Given the description of an element on the screen output the (x, y) to click on. 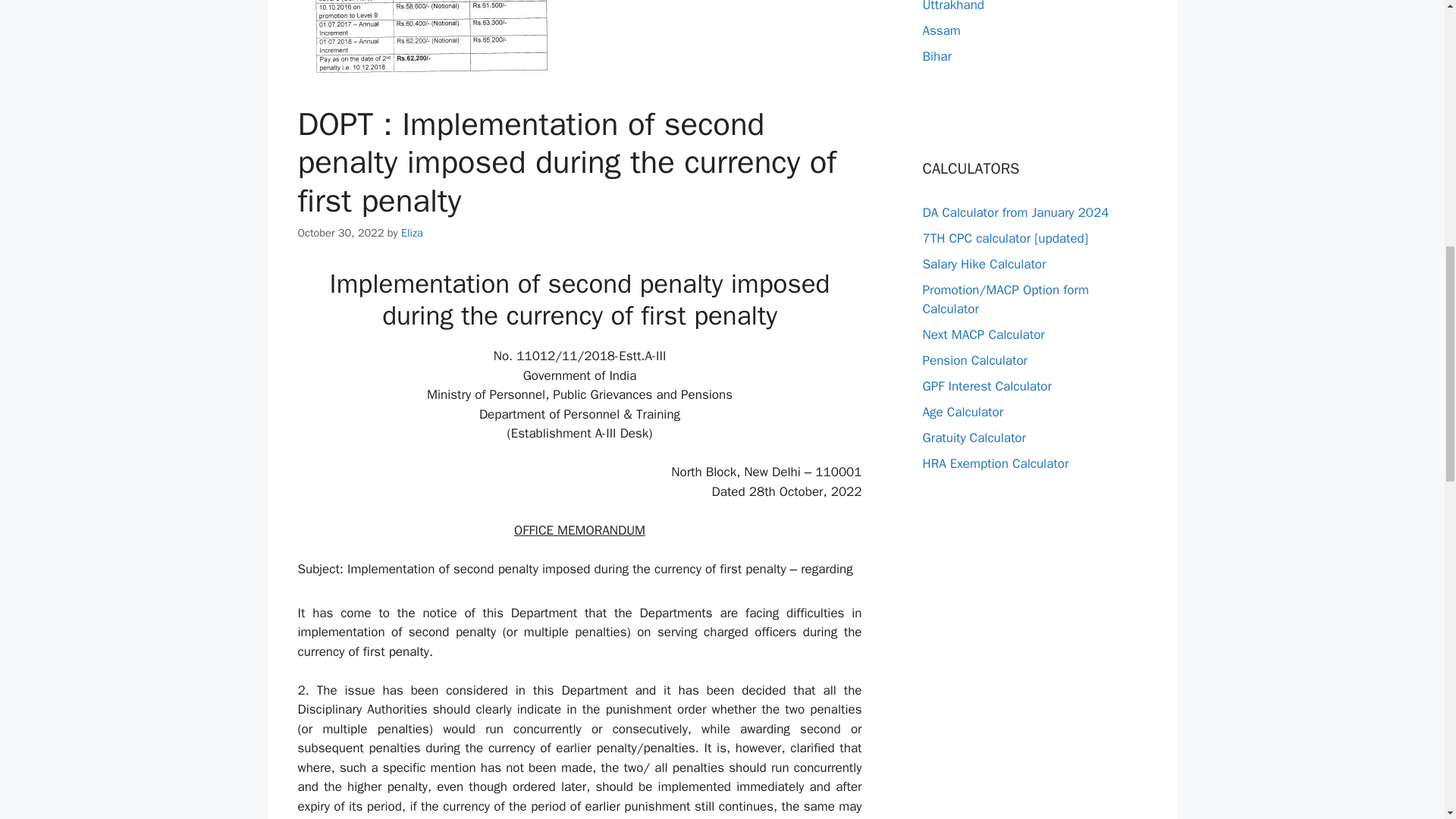
Bihar (935, 56)
Assam (940, 30)
DA Calculator from January 2024 (1014, 212)
Scroll back to top (1406, 720)
Uttrakhand (952, 6)
Eliza (412, 232)
Salary Hike Calculator (983, 263)
View all posts by Eliza (412, 232)
